Given the description of an element on the screen output the (x, y) to click on. 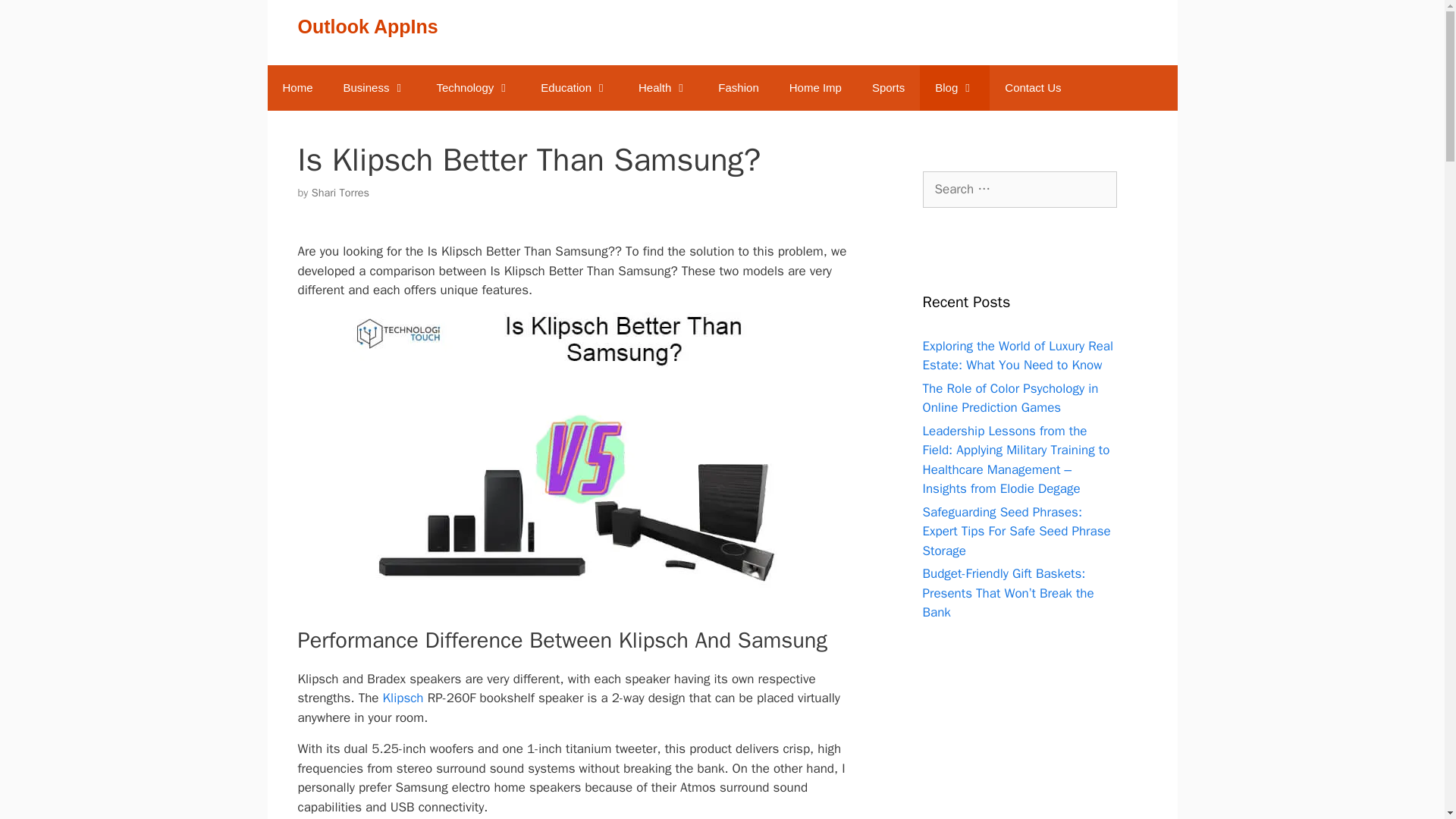
Outlook Appins (296, 87)
Technology (472, 87)
Business (375, 87)
Search for: (1018, 189)
Education (574, 87)
Home (296, 87)
View all posts by Shari Torres (340, 192)
Outlook AppIns (367, 25)
